Given the description of an element on the screen output the (x, y) to click on. 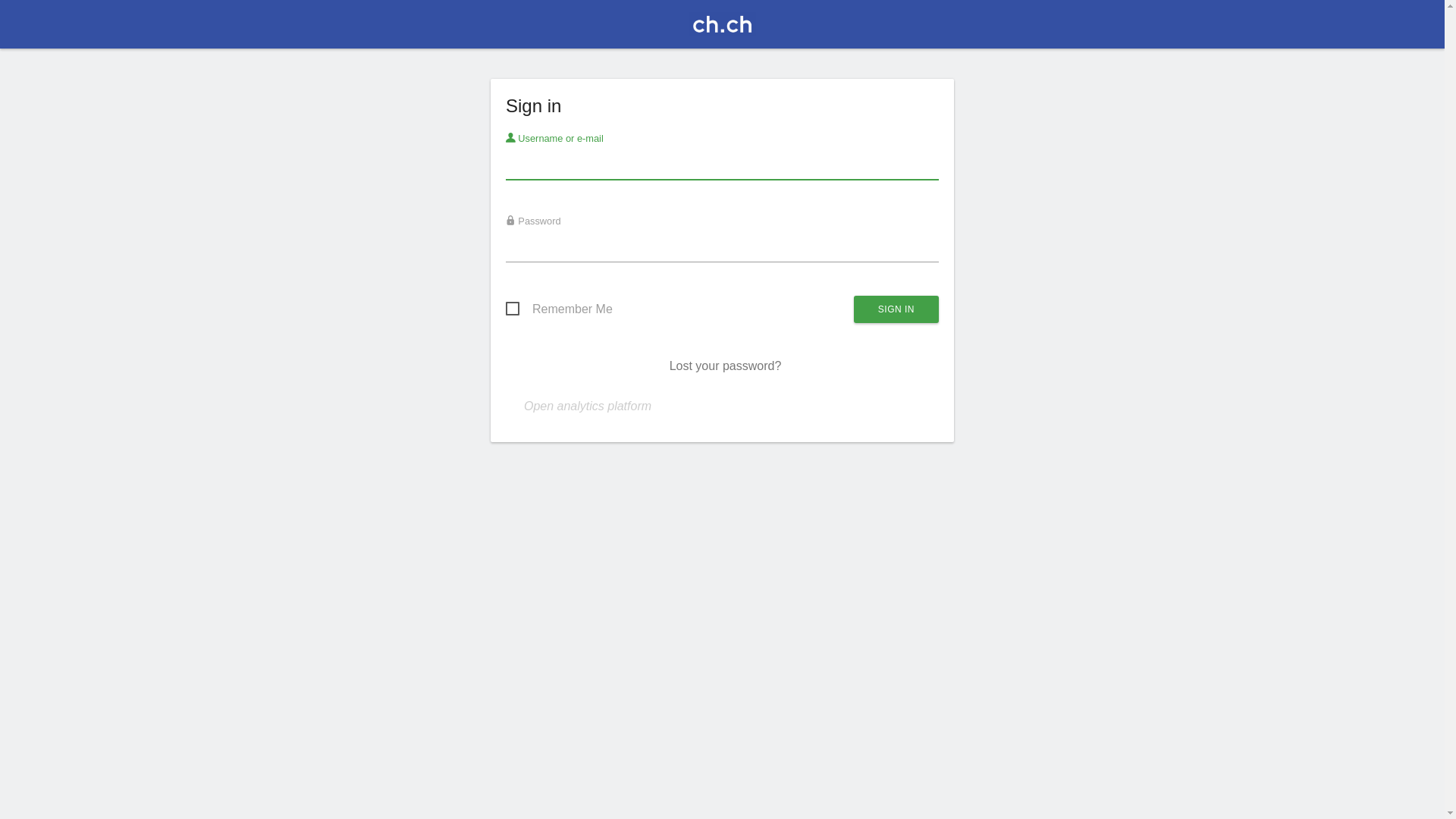
Powered by Matomo Element type: hover (722, 27)
Open analytics platform Element type: text (587, 405)
Sign in Element type: text (895, 309)
Lost your password? Element type: text (725, 365)
